Given the description of an element on the screen output the (x, y) to click on. 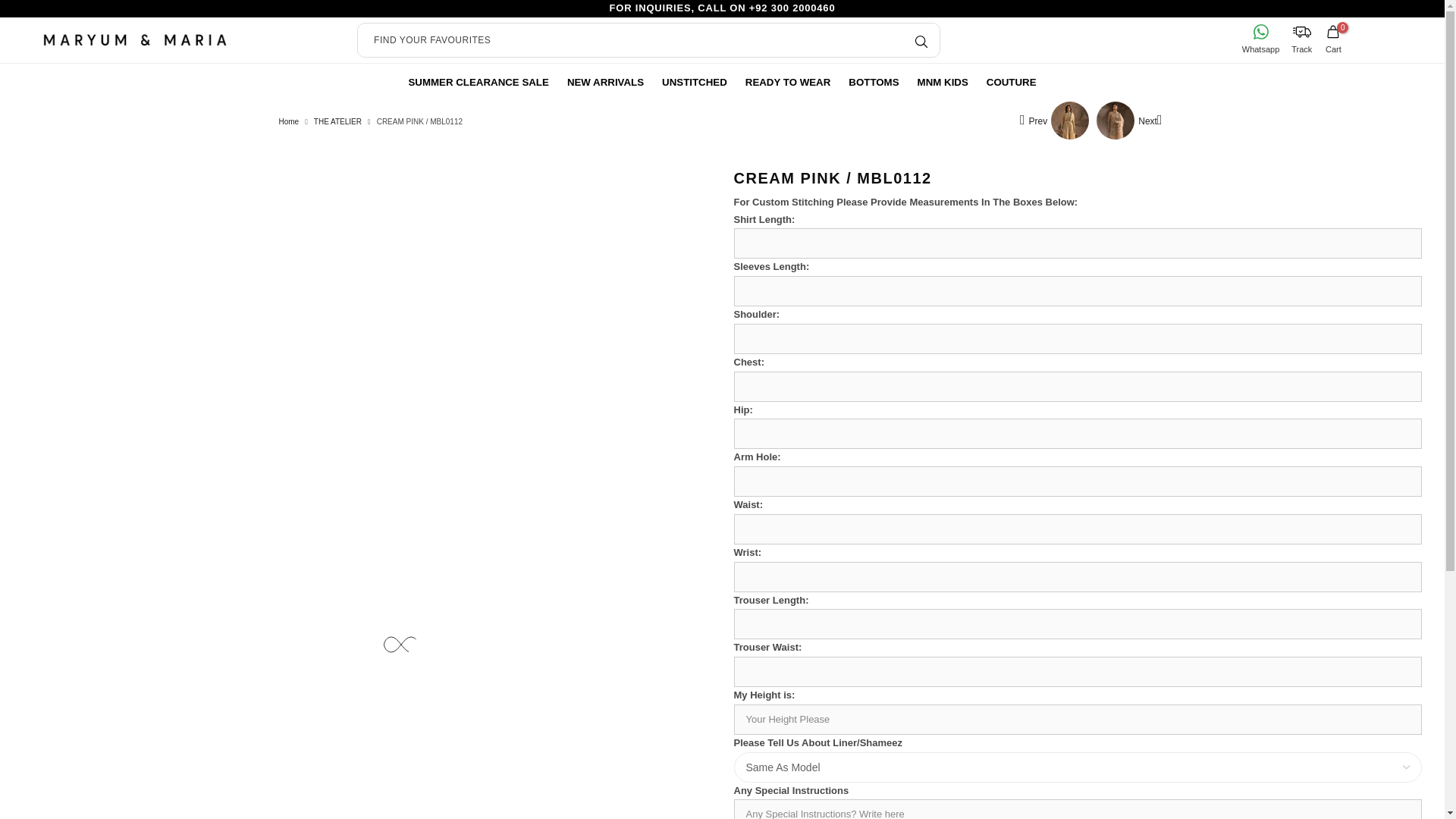
UNSTITCHED (694, 82)
NEW ARRIVALS (604, 82)
COUTURE (1010, 82)
Whatsapp (1260, 39)
THE ATELIER (337, 122)
Home (289, 122)
READY TO WEAR (788, 82)
Prev (1054, 120)
MNM KIDS (942, 82)
BOTTOMS (873, 82)
SUMMER CLEARANCE SALE (477, 82)
